Given the description of an element on the screen output the (x, y) to click on. 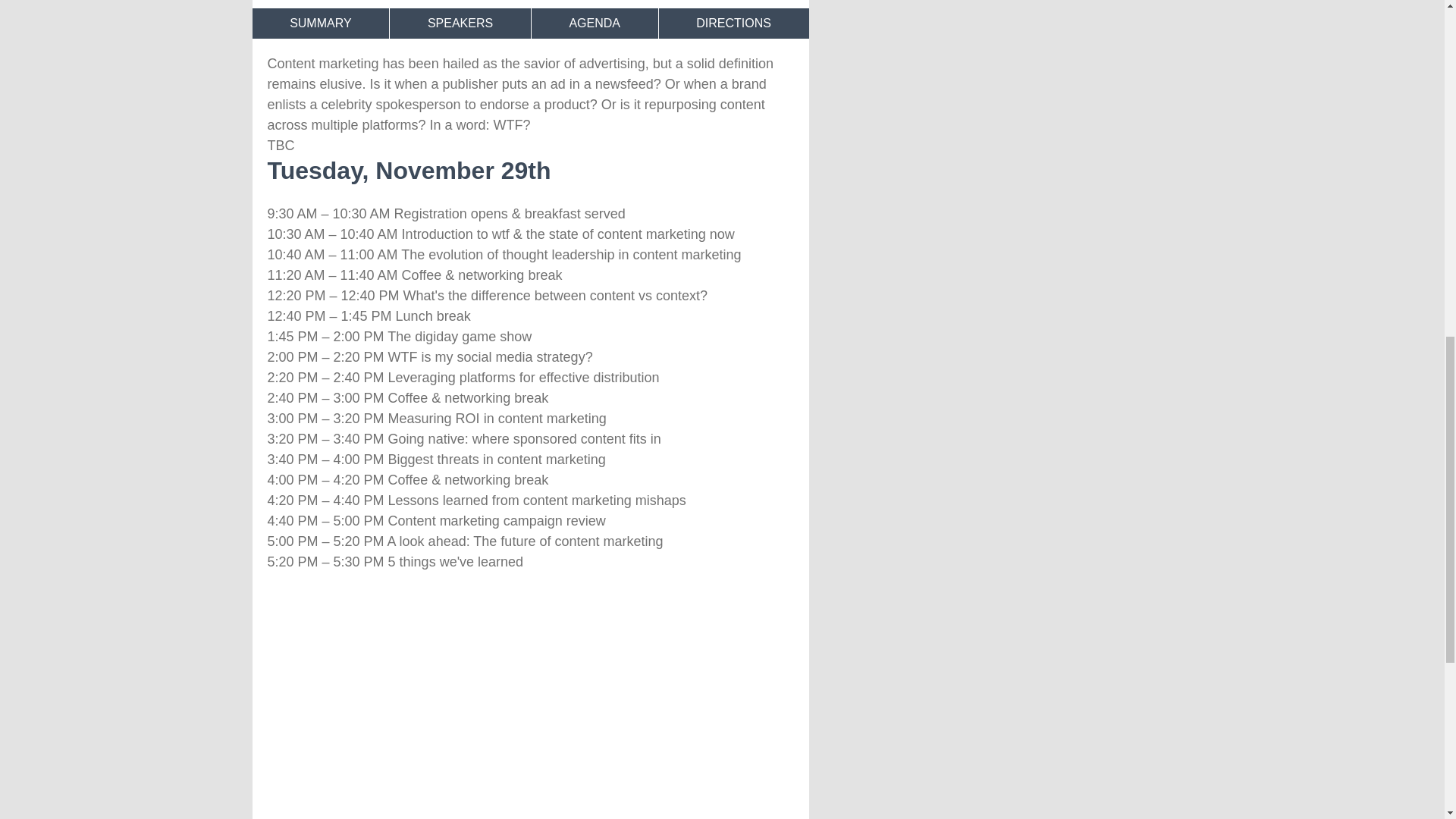
SPEAKERS (460, 23)
AGENDA (594, 23)
DIRECTIONS (734, 23)
SUMMARY (319, 23)
